Given the description of an element on the screen output the (x, y) to click on. 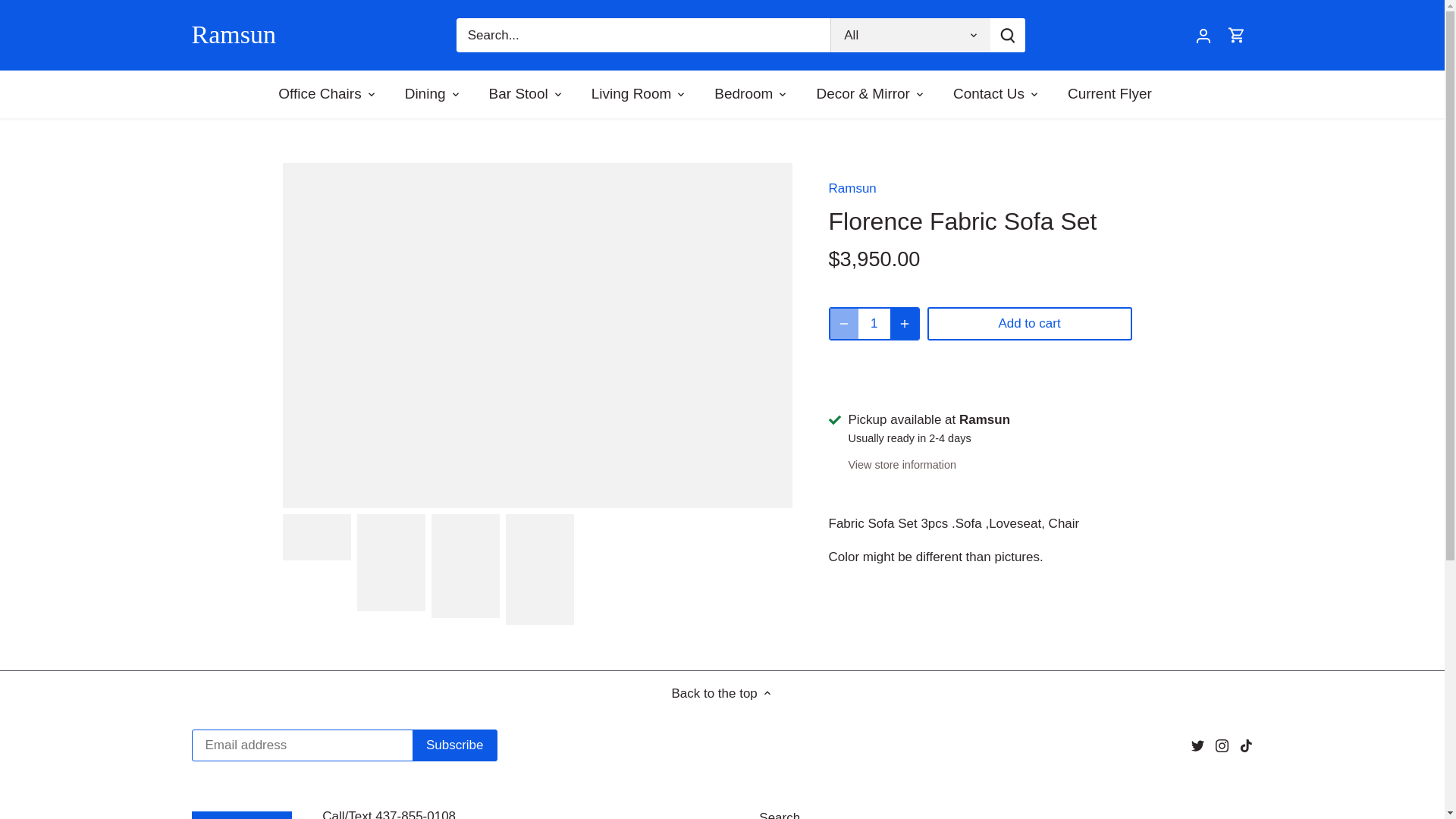
Ramsun (239, 34)
Twitter (1197, 745)
Office Chairs (326, 93)
Living Room (630, 93)
Subscribe (454, 745)
1 (875, 323)
Dining (425, 93)
Bar Stool (518, 93)
Bedroom (743, 93)
Instagram (1221, 745)
